Given the description of an element on the screen output the (x, y) to click on. 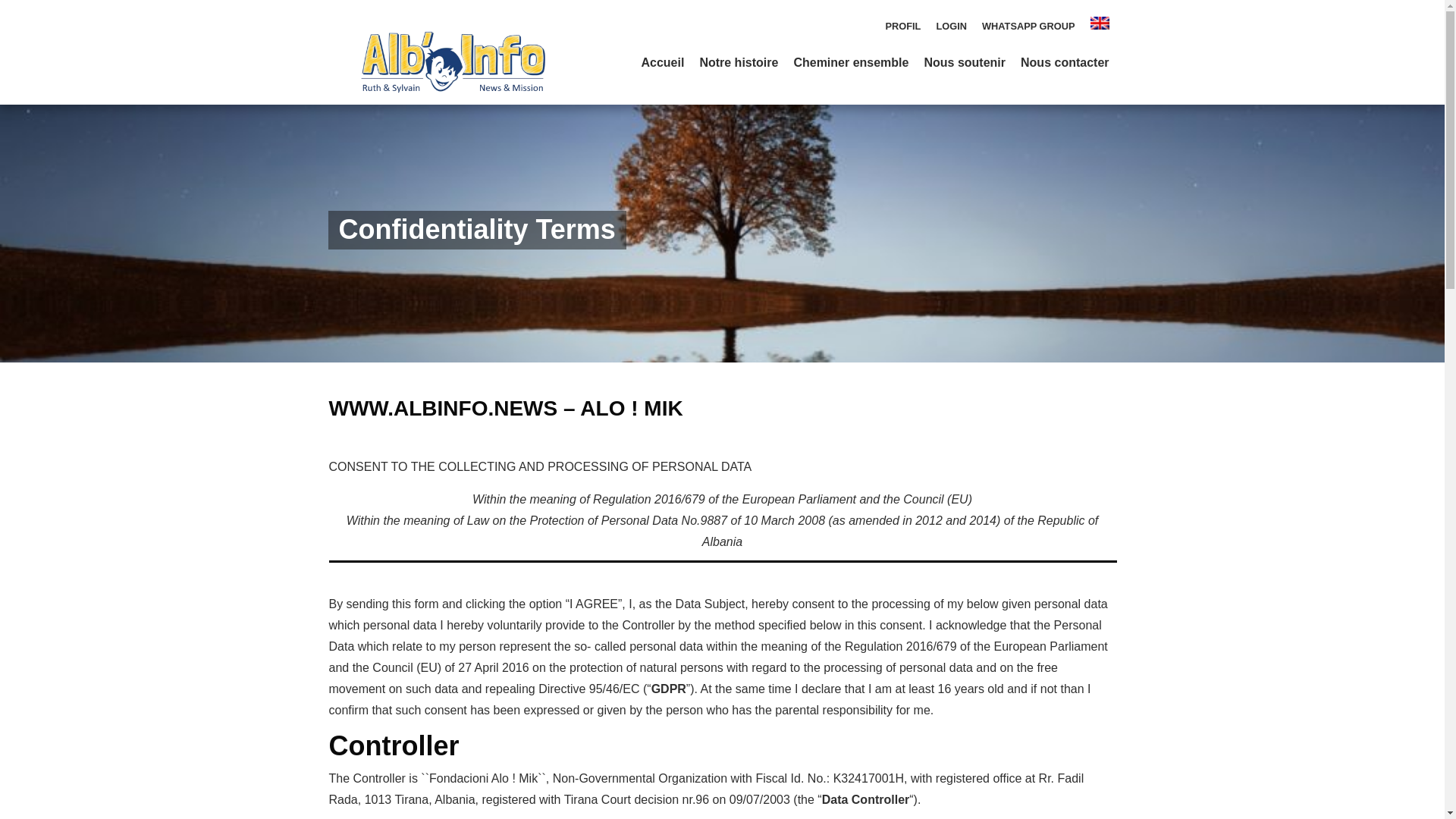
WHATSAPP GROUP (1028, 26)
Cheminer ensemble (850, 62)
Nous contacter (1064, 62)
Accueil (662, 62)
Notre histoire (737, 62)
Nous soutenir (964, 62)
PROFIL (903, 26)
LOGIN (951, 26)
WhatsApp Prayer Group (1028, 26)
